Given the description of an element on the screen output the (x, y) to click on. 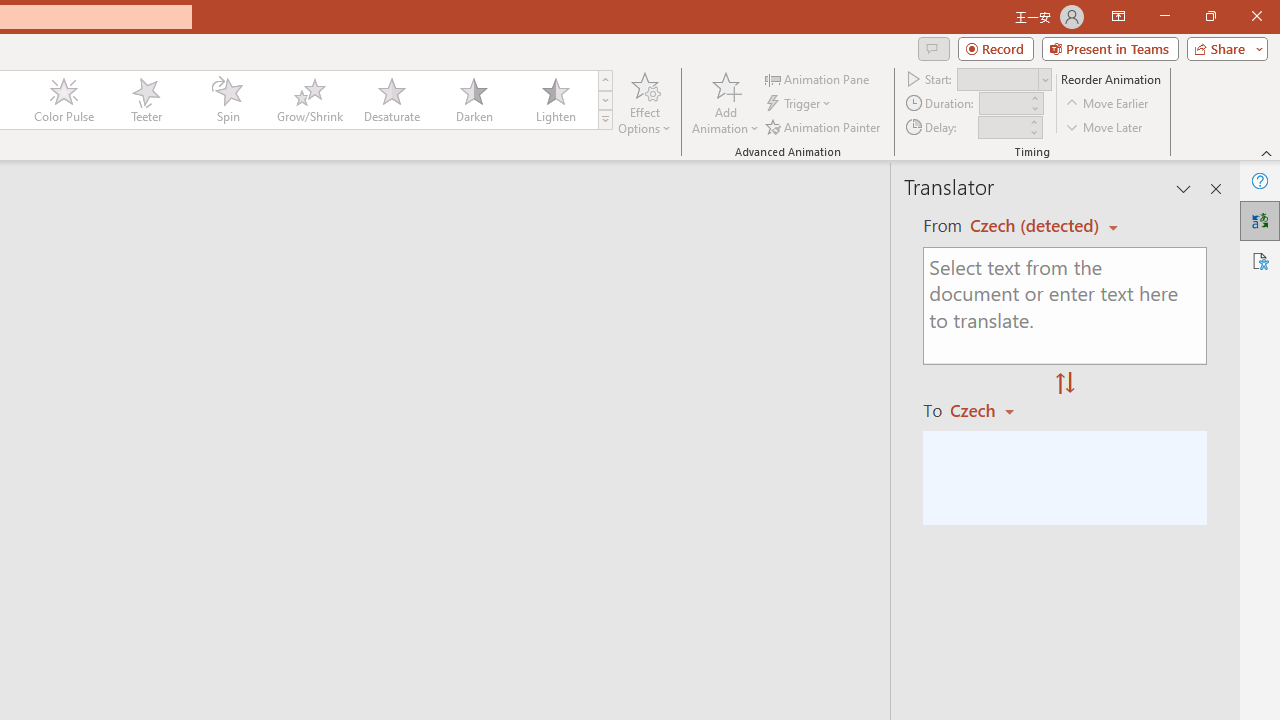
Effect Options (644, 102)
Czech (991, 409)
Desaturate (391, 100)
Lighten (555, 100)
Add Animation (725, 102)
